Given the description of an element on the screen output the (x, y) to click on. 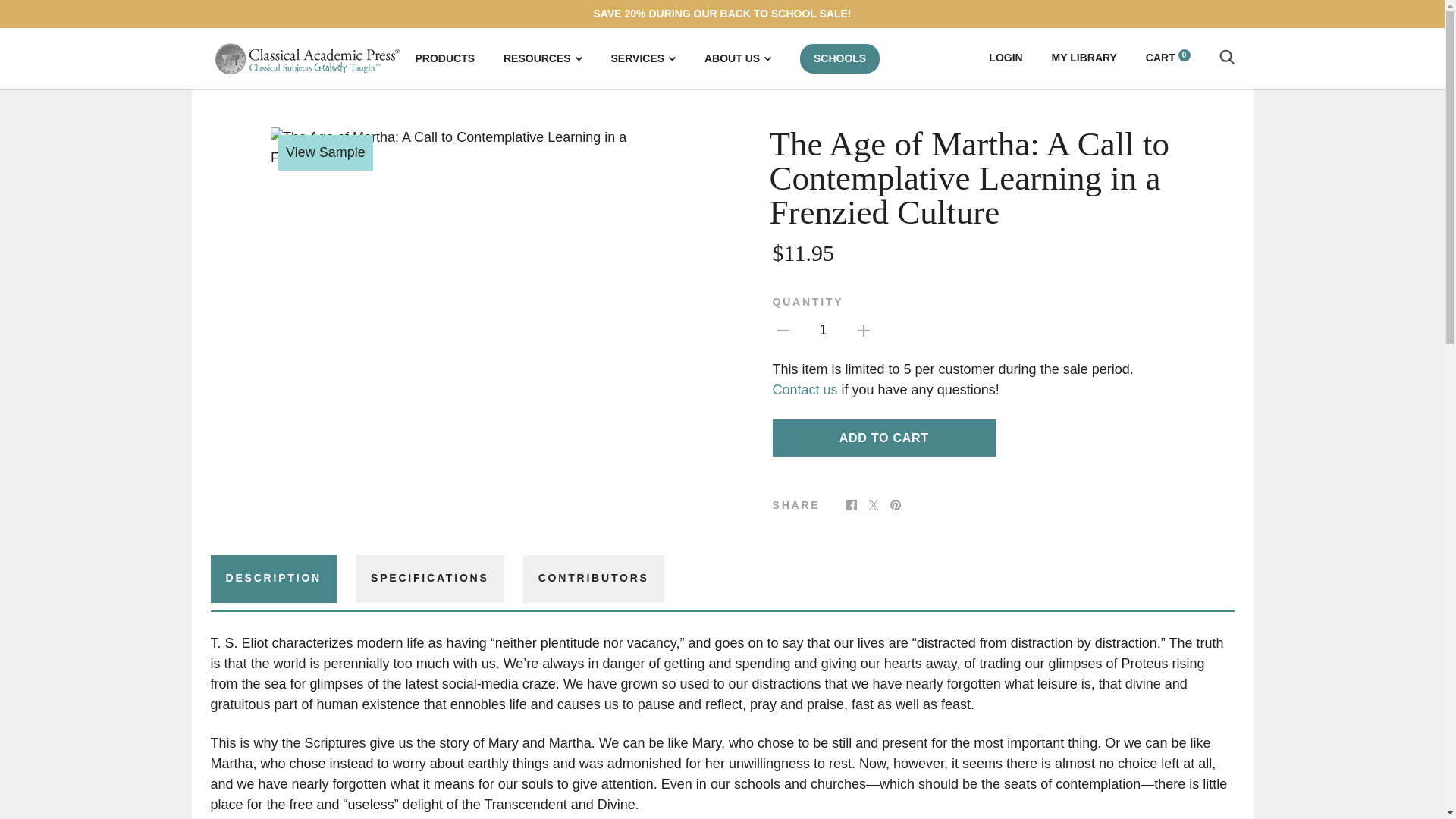
Decrease quantity by 1 (782, 329)
Increase quantity by 1 (864, 329)
